Given the description of an element on the screen output the (x, y) to click on. 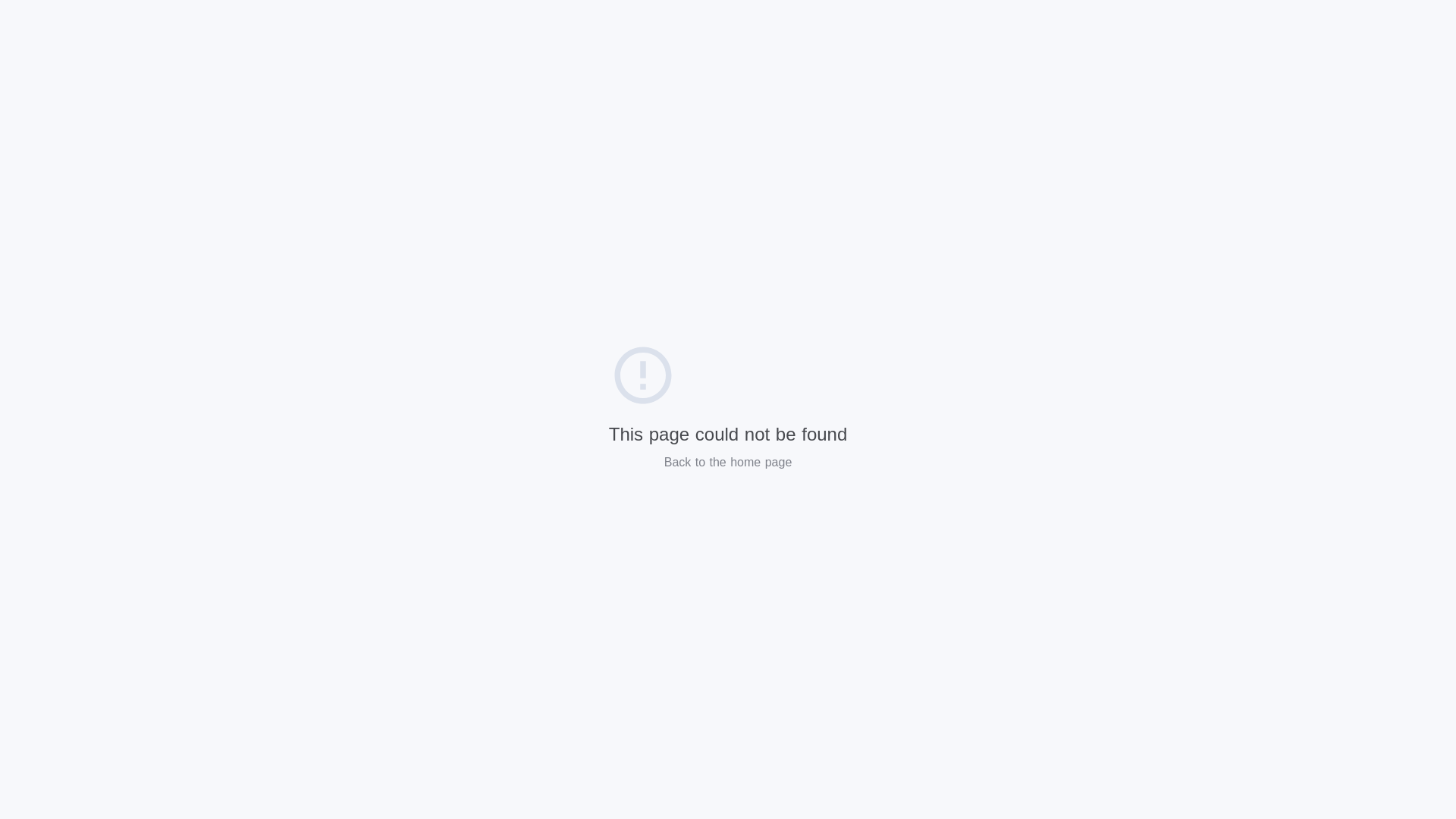
Back to the home page Element type: text (728, 461)
